Given the description of an element on the screen output the (x, y) to click on. 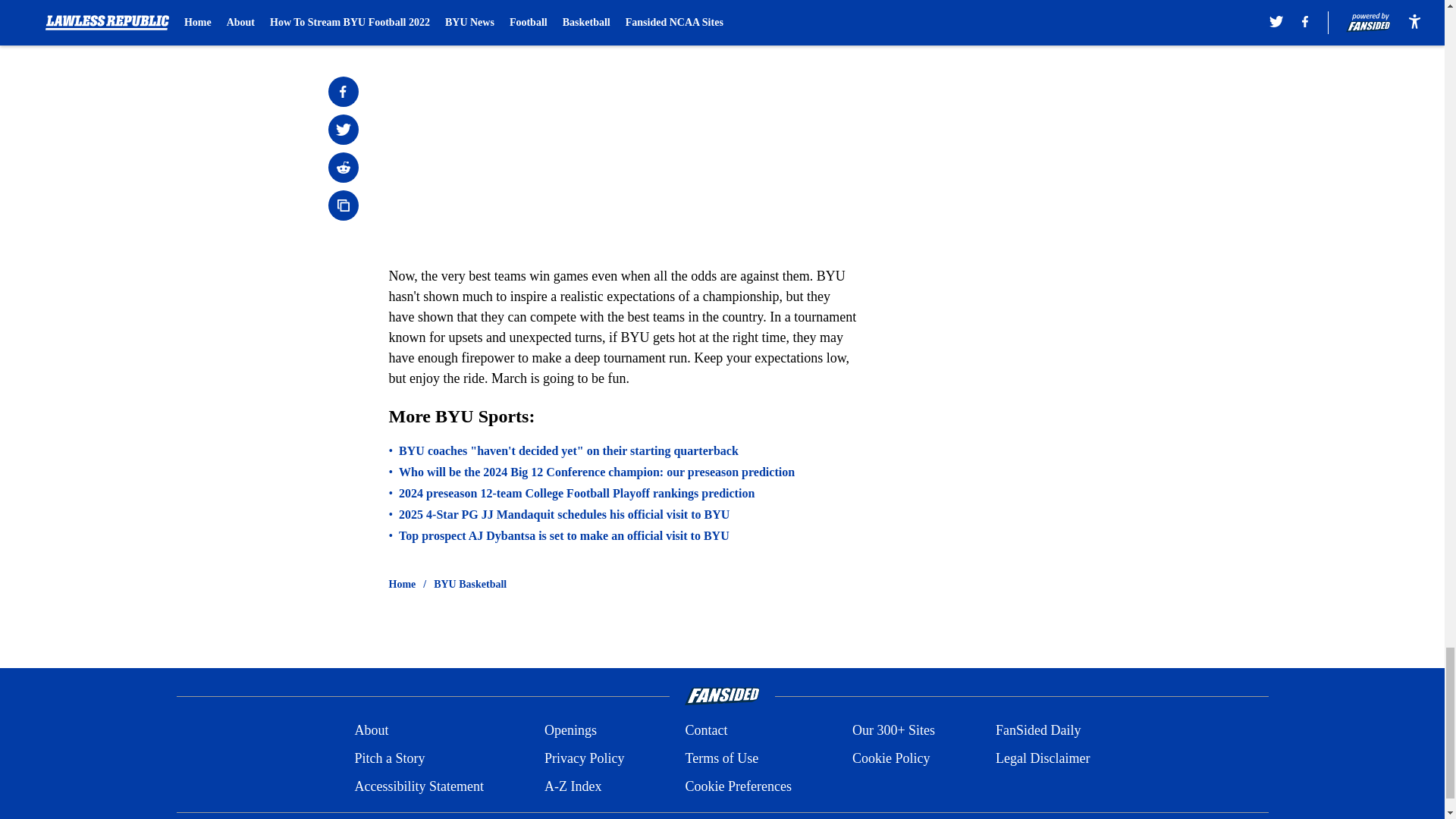
Terms of Use (721, 758)
Legal Disclaimer (1042, 758)
Openings (570, 730)
Home (401, 584)
BYU Basketball (469, 584)
Privacy Policy (584, 758)
Accessibility Statement (418, 786)
